Given the description of an element on the screen output the (x, y) to click on. 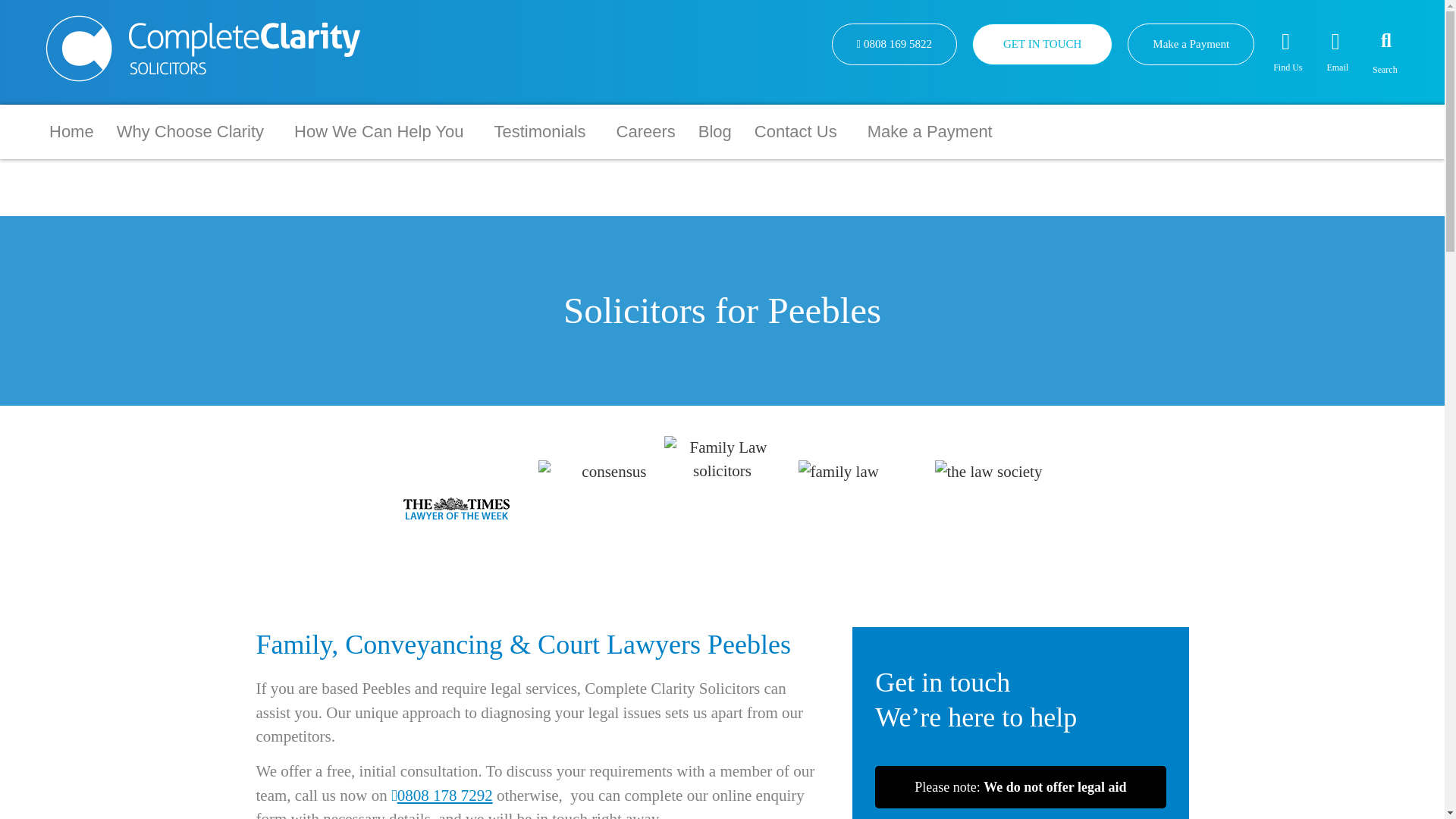
GET IN TOUCH (1042, 43)
How We Can Help You (381, 131)
0808 169 5822 (893, 43)
Home (70, 131)
Why Choose Clarity (193, 131)
Make a Payment (1189, 43)
